Given the description of an element on the screen output the (x, y) to click on. 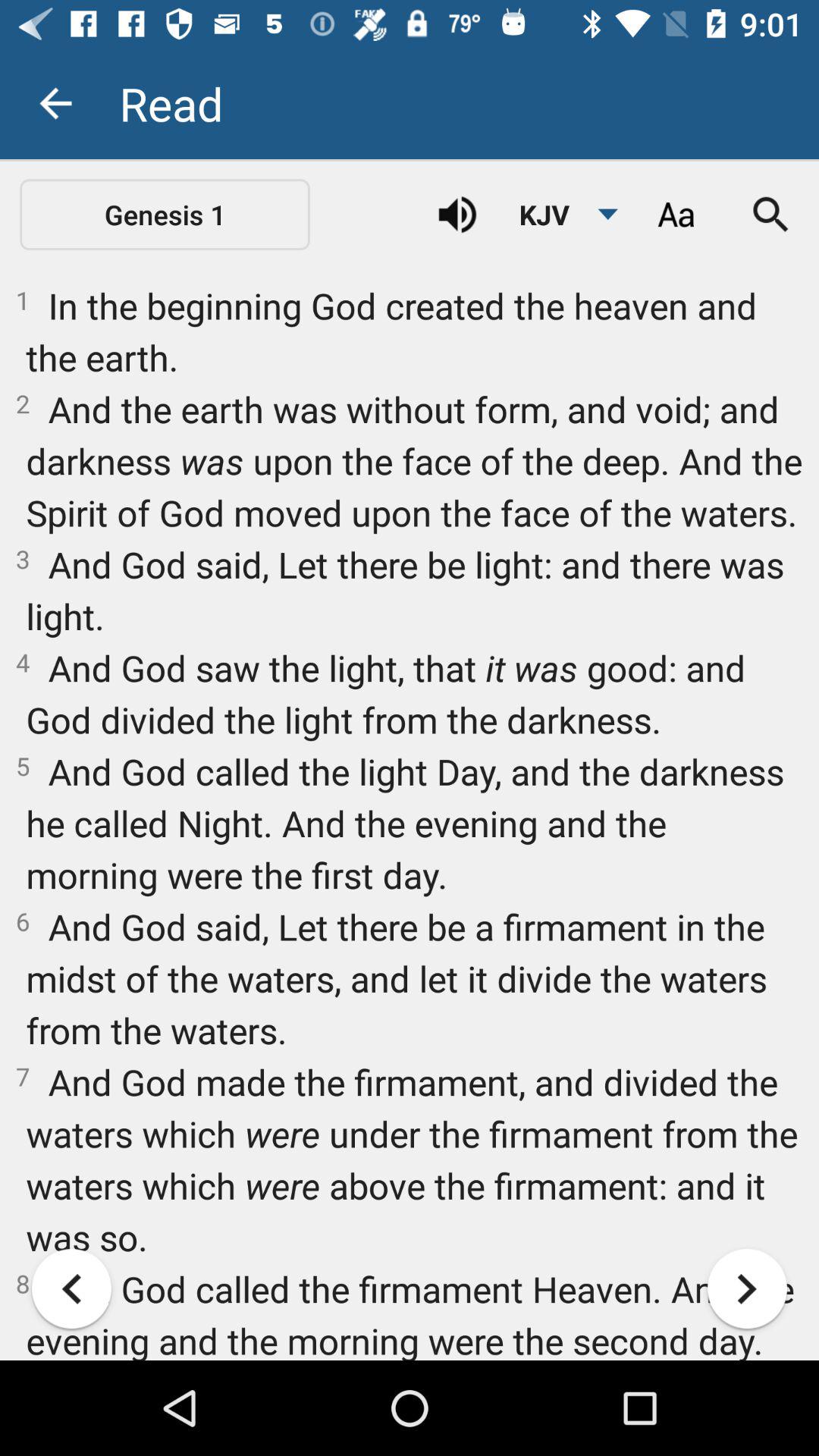
turn on item next to the kjv item (675, 214)
